Given the description of an element on the screen output the (x, y) to click on. 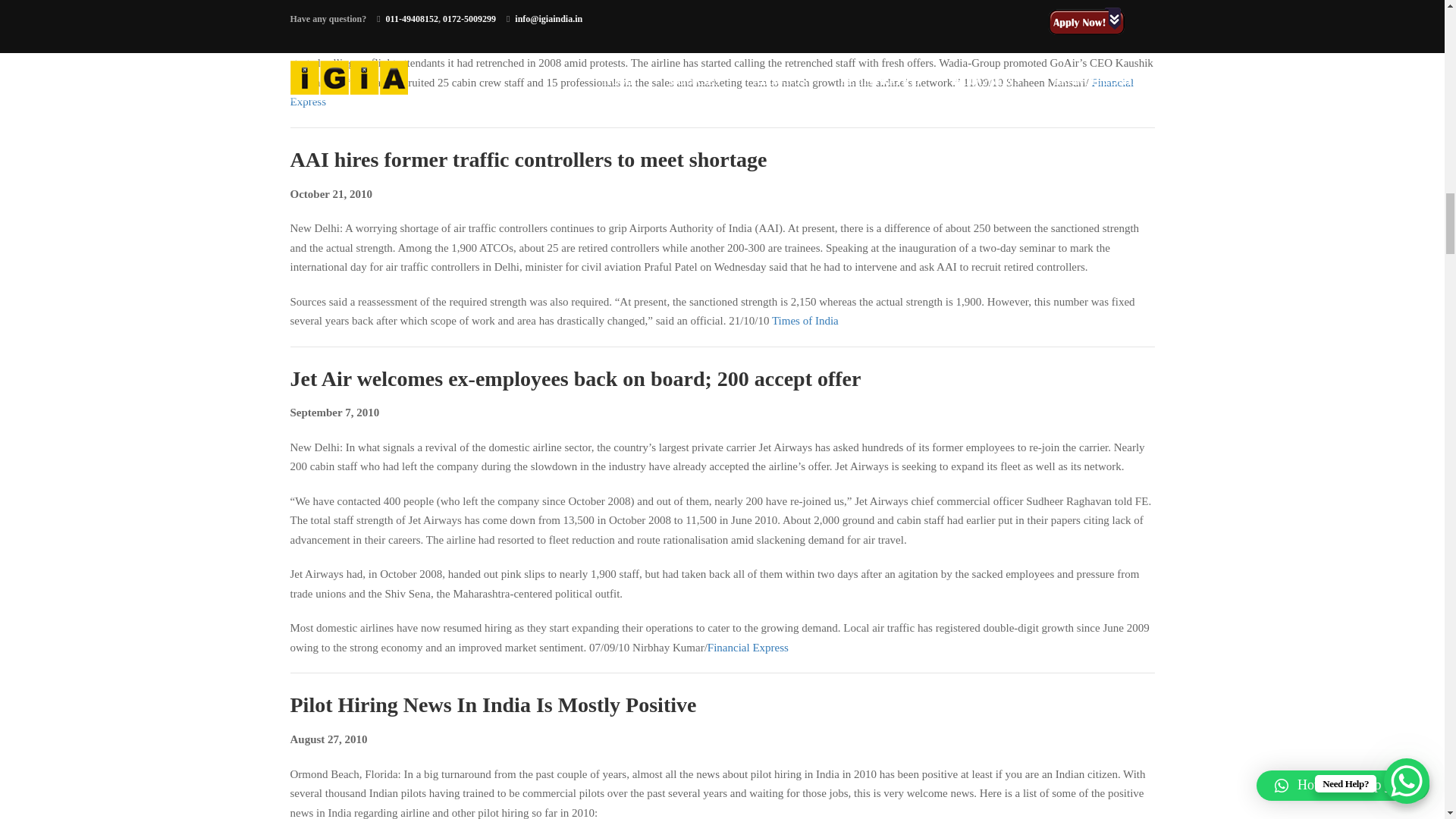
Financial Express (711, 92)
